Given the description of an element on the screen output the (x, y) to click on. 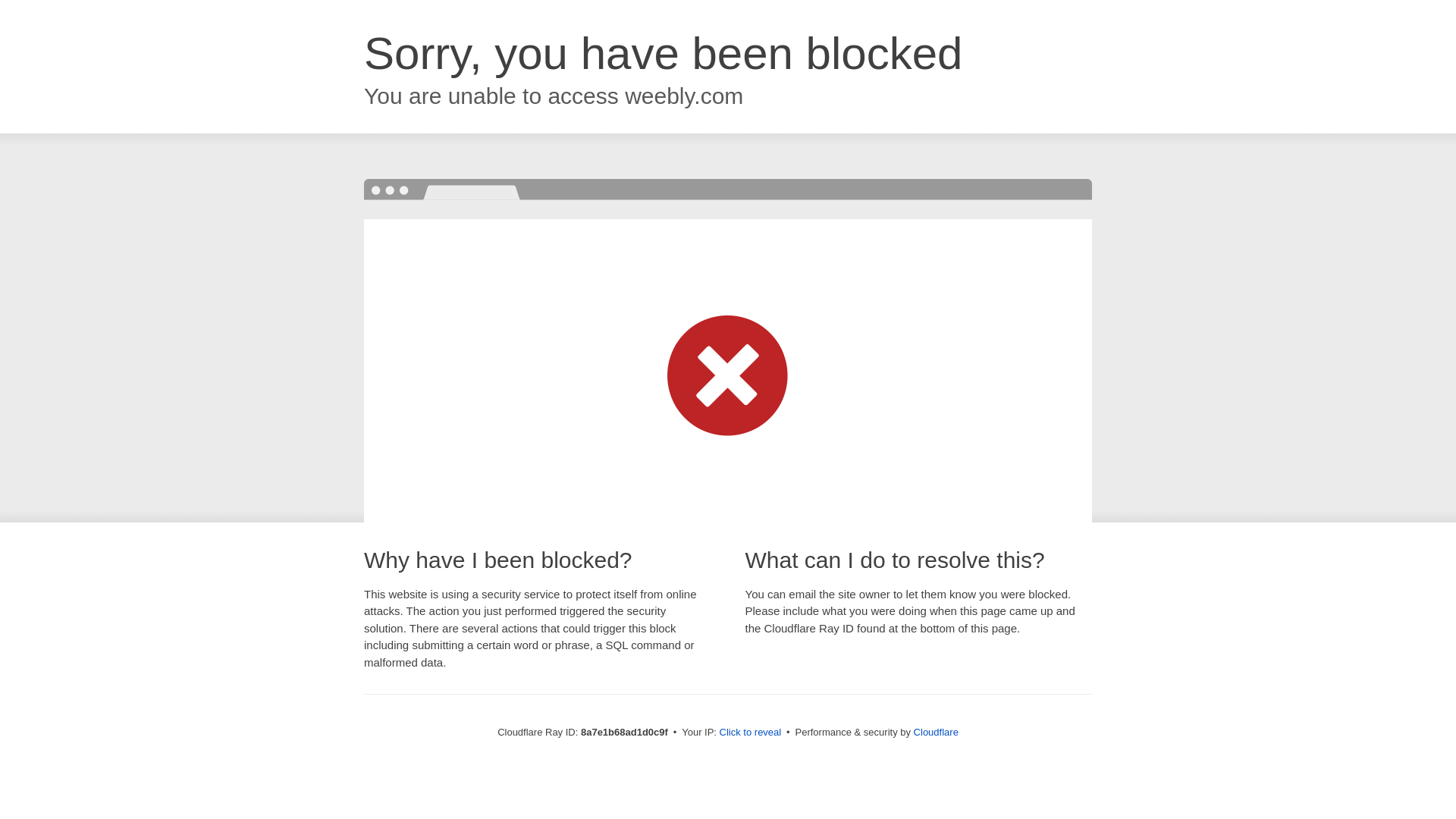
Click to reveal (750, 732)
Cloudflare (936, 731)
